Given the description of an element on the screen output the (x, y) to click on. 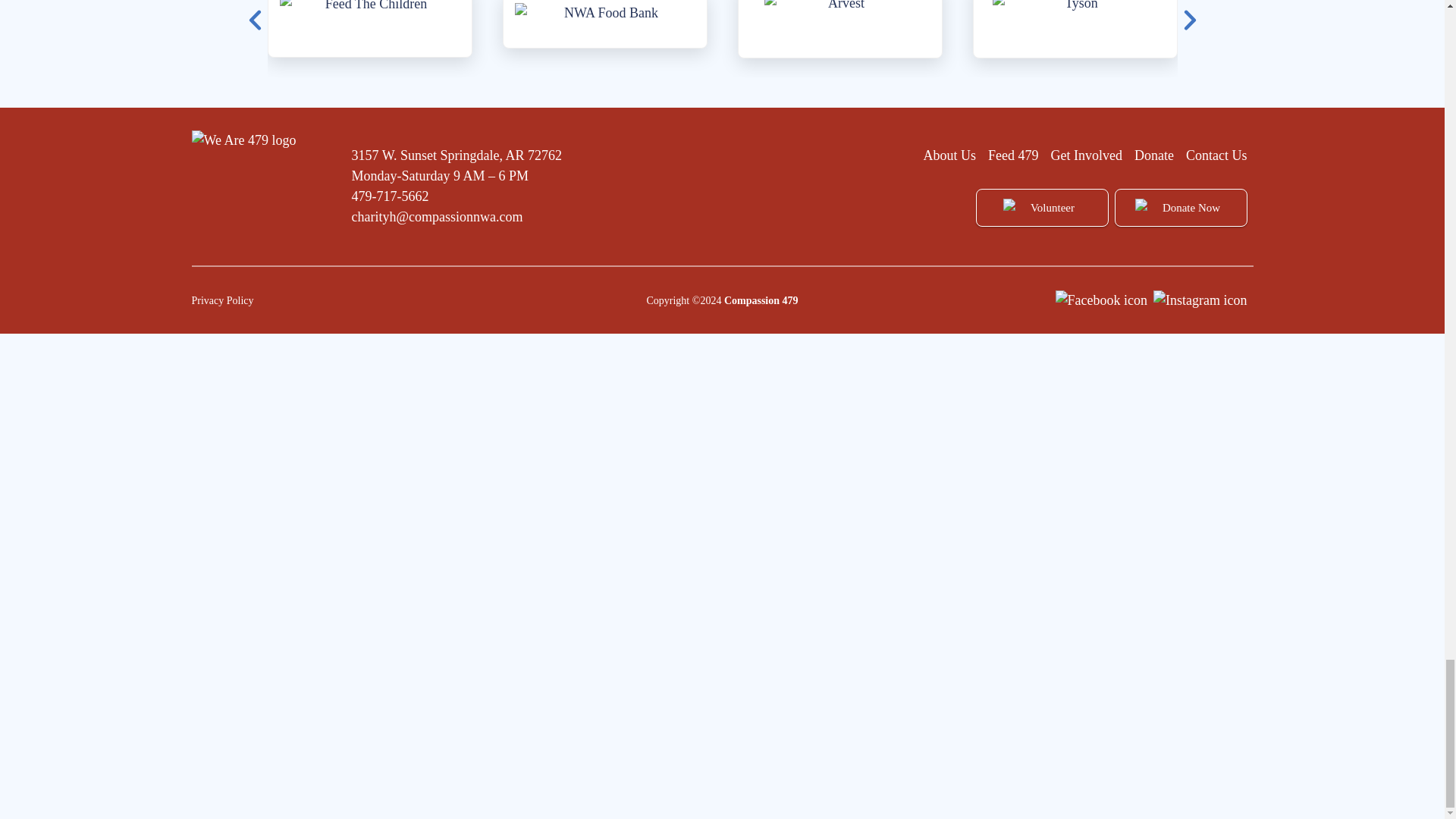
Visit Instagram (1199, 299)
479-717-5662 (390, 196)
Visit Facebook (1101, 299)
Donate (1153, 155)
Volunteer (1041, 207)
Get Involved (1086, 155)
View Privacy Policy. (221, 300)
About Us (949, 155)
Donate Now (1181, 207)
Contact Us (1216, 155)
